Given the description of an element on the screen output the (x, y) to click on. 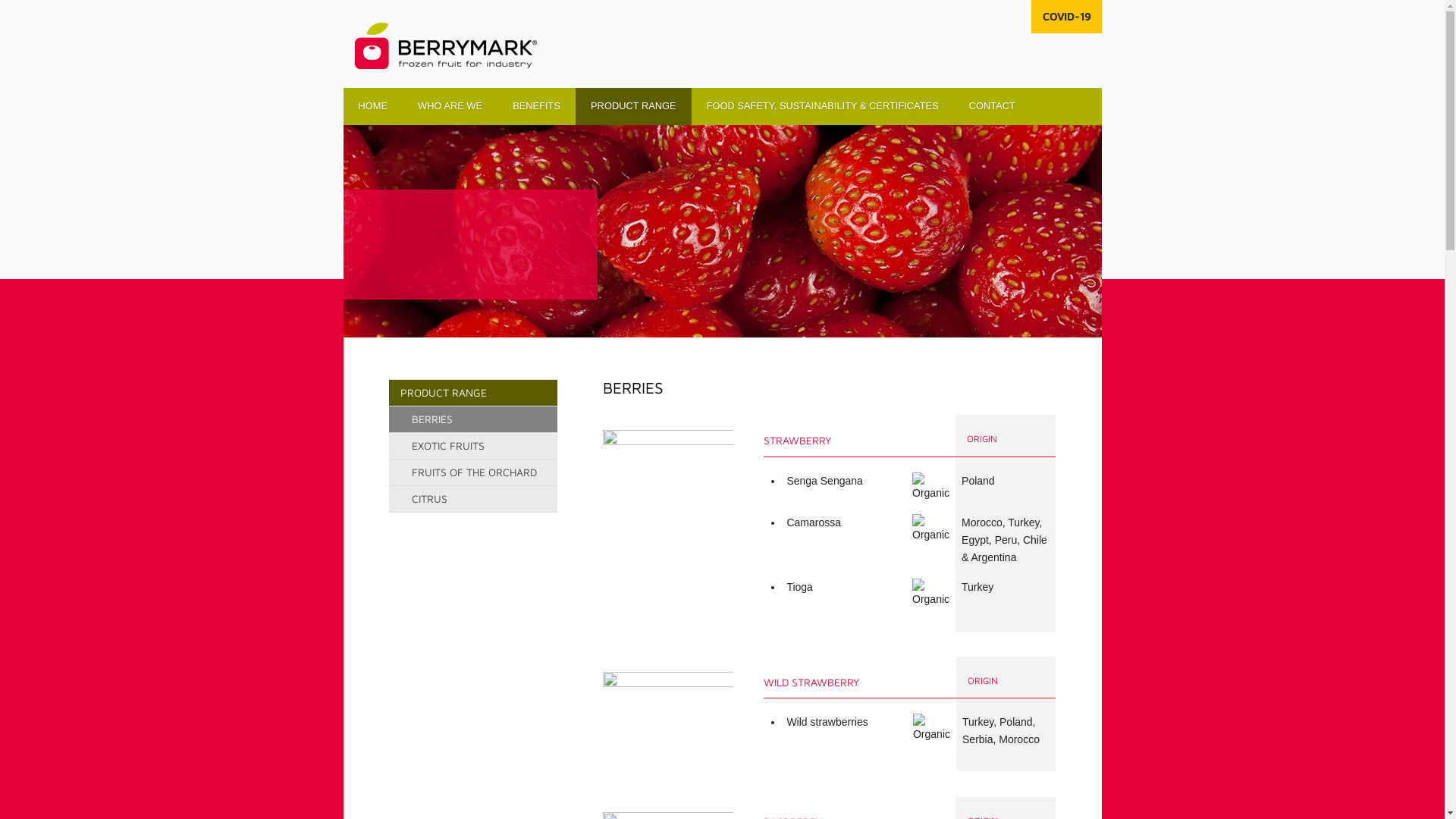
EXOTIC FRUITS Element type: text (472, 445)
HOME Element type: text (372, 106)
BENEFITS Element type: text (536, 106)
CONTACT Element type: text (991, 106)
FOOD SAFETY, SUSTAINABILITY & CERTIFICATES Element type: text (822, 106)
WHO ARE WE Element type: text (449, 106)
Berrymark Element type: text (445, 45)
BERRIES Element type: text (472, 419)
CITRUS Element type: text (472, 498)
PRODUCT RANGE Element type: text (633, 106)
FRUITS OF THE ORCHARD Element type: text (472, 472)
PRODUCT RANGE Element type: text (472, 392)
COVID-19 Element type: text (1066, 16)
